Given the description of an element on the screen output the (x, y) to click on. 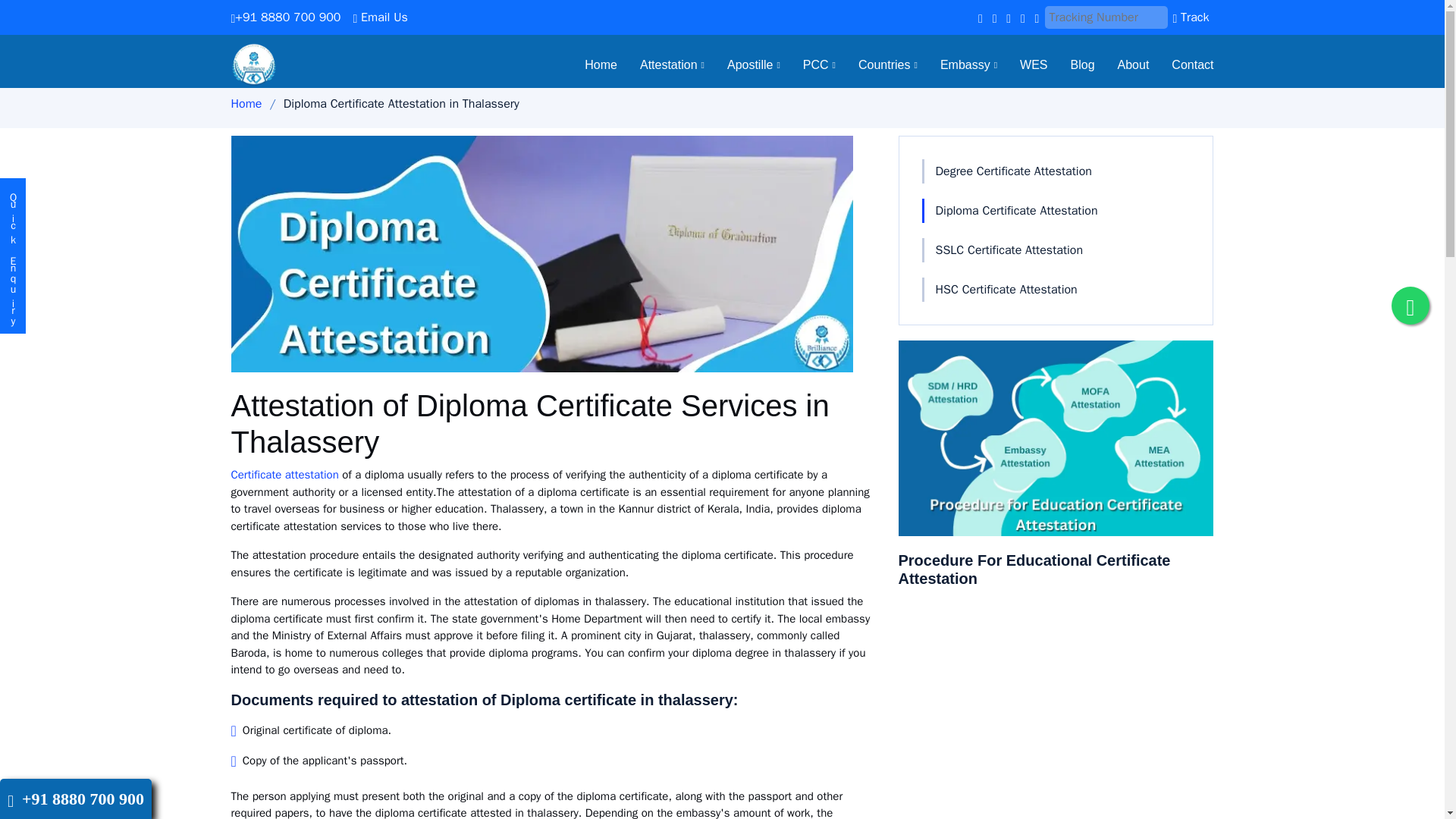
Apostille (742, 64)
Home (589, 64)
Email Us (379, 17)
Track (1189, 17)
Attestation (660, 64)
